Given the description of an element on the screen output the (x, y) to click on. 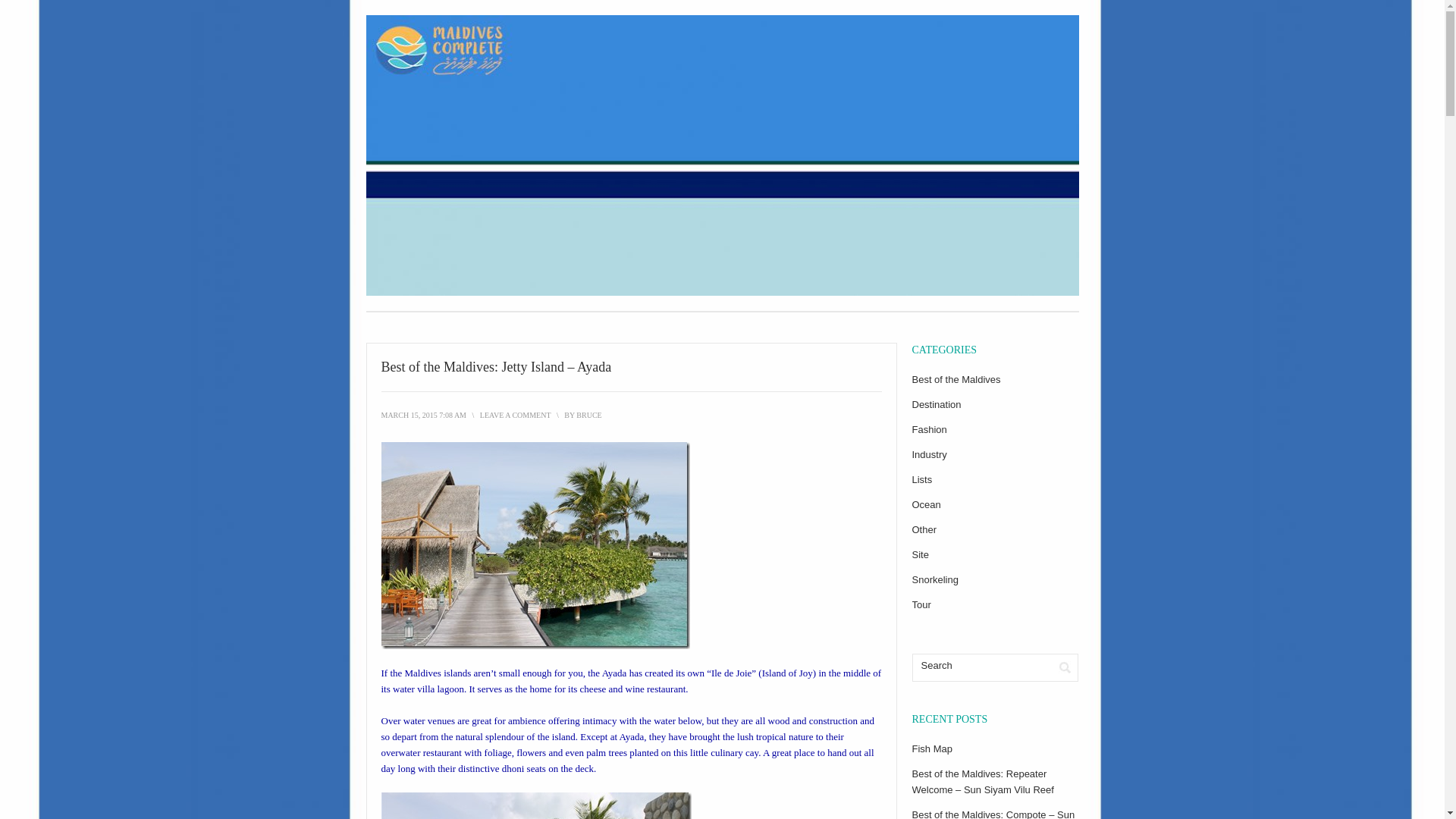
Ayada - villa island (534, 545)
Industry (928, 454)
Search (1064, 667)
Tour (920, 604)
BRUCE (588, 415)
Search (980, 665)
Other (923, 529)
Ayada (614, 672)
dhoni seats (524, 767)
Snorkeling (934, 579)
Fish Map (931, 748)
Lists (921, 479)
Best of the Maldives (955, 378)
Search (1064, 667)
Ile de Joie (731, 672)
